Given the description of an element on the screen output the (x, y) to click on. 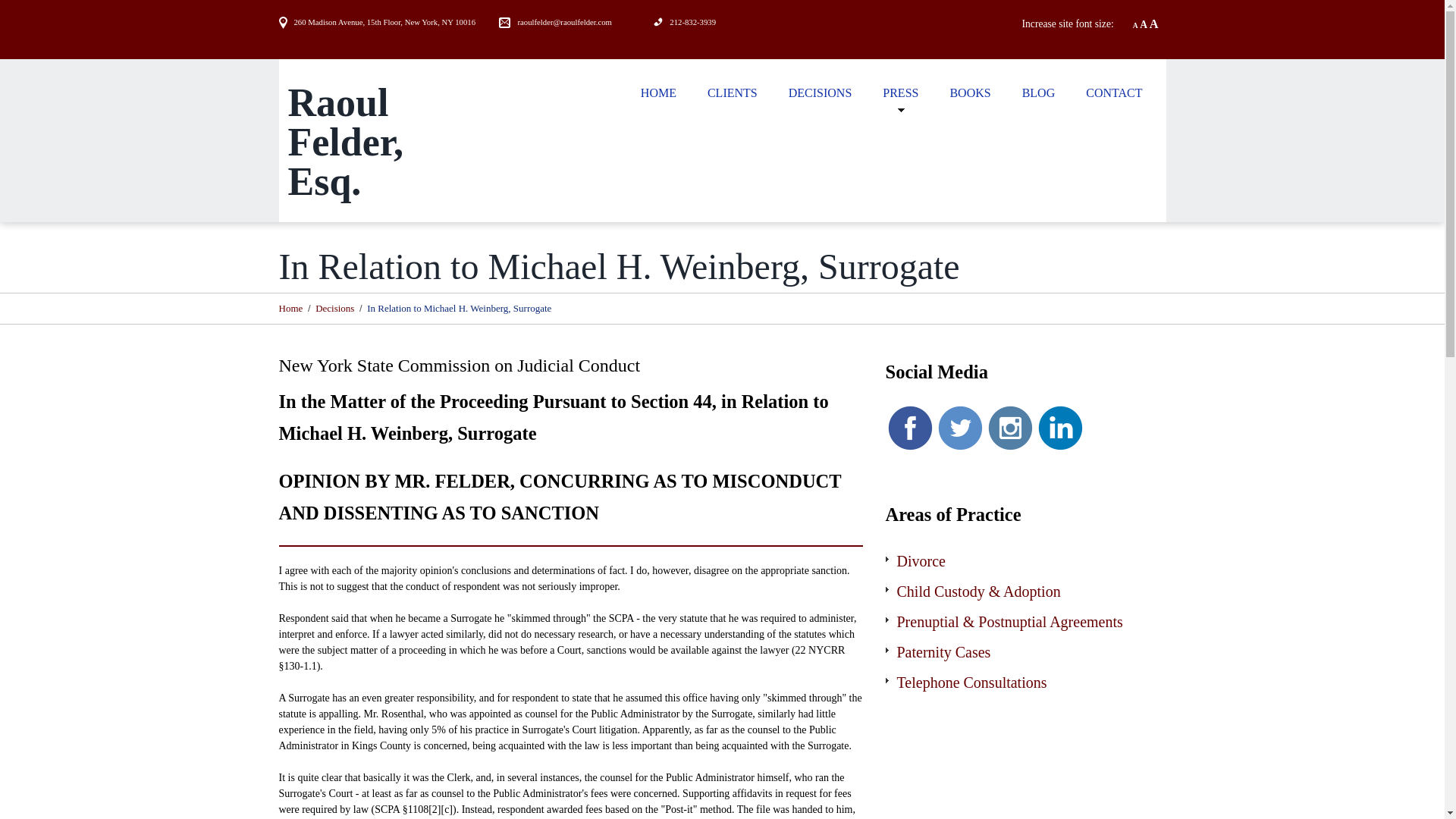
212-832-3939 (692, 21)
CLIENTS (733, 91)
Home (290, 307)
260 Madison Avenue, 15th Floor, New York, NY 10016 (385, 21)
HOME (658, 91)
Paternity Cases (943, 651)
Divorce (920, 560)
Telephone Consultations (971, 682)
BOOKS (970, 91)
CONTACT (1113, 91)
DECISIONS (820, 91)
Decisions (334, 307)
Raoul Felder, Esq. (346, 141)
BLOG (1038, 91)
